Given the description of an element on the screen output the (x, y) to click on. 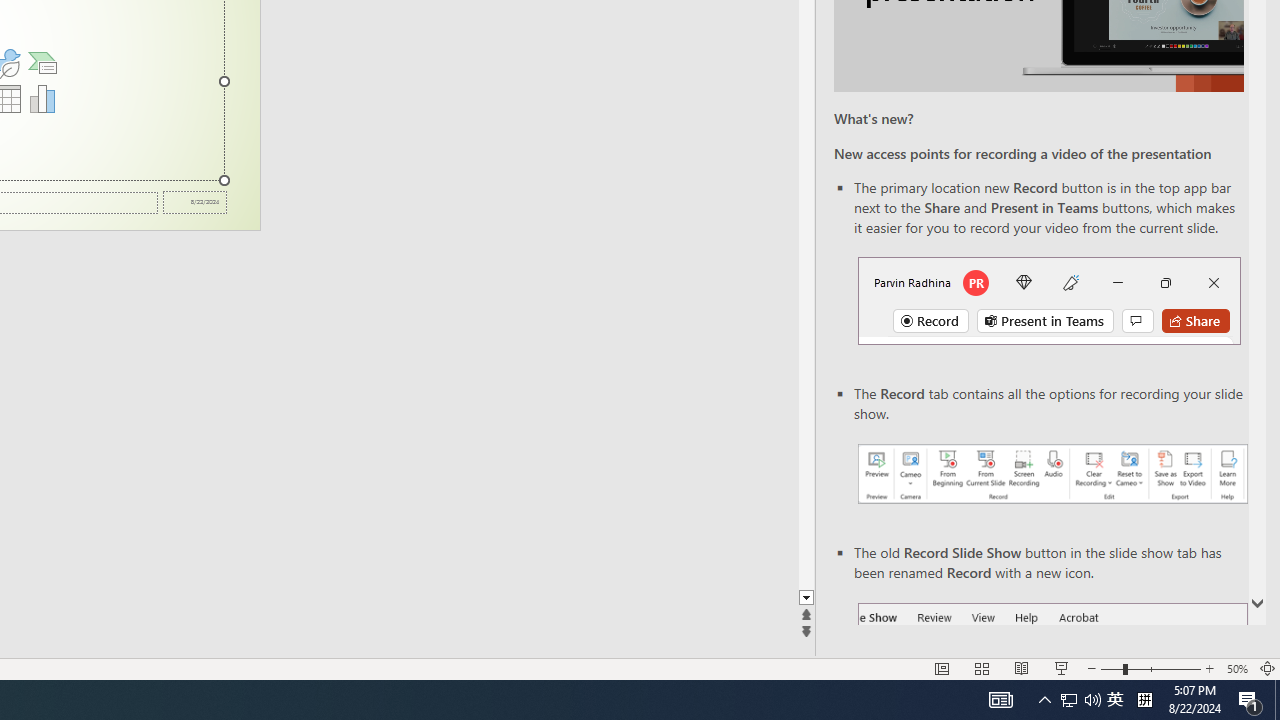
Record your presentations screenshot one (1052, 473)
